Given the description of an element on the screen output the (x, y) to click on. 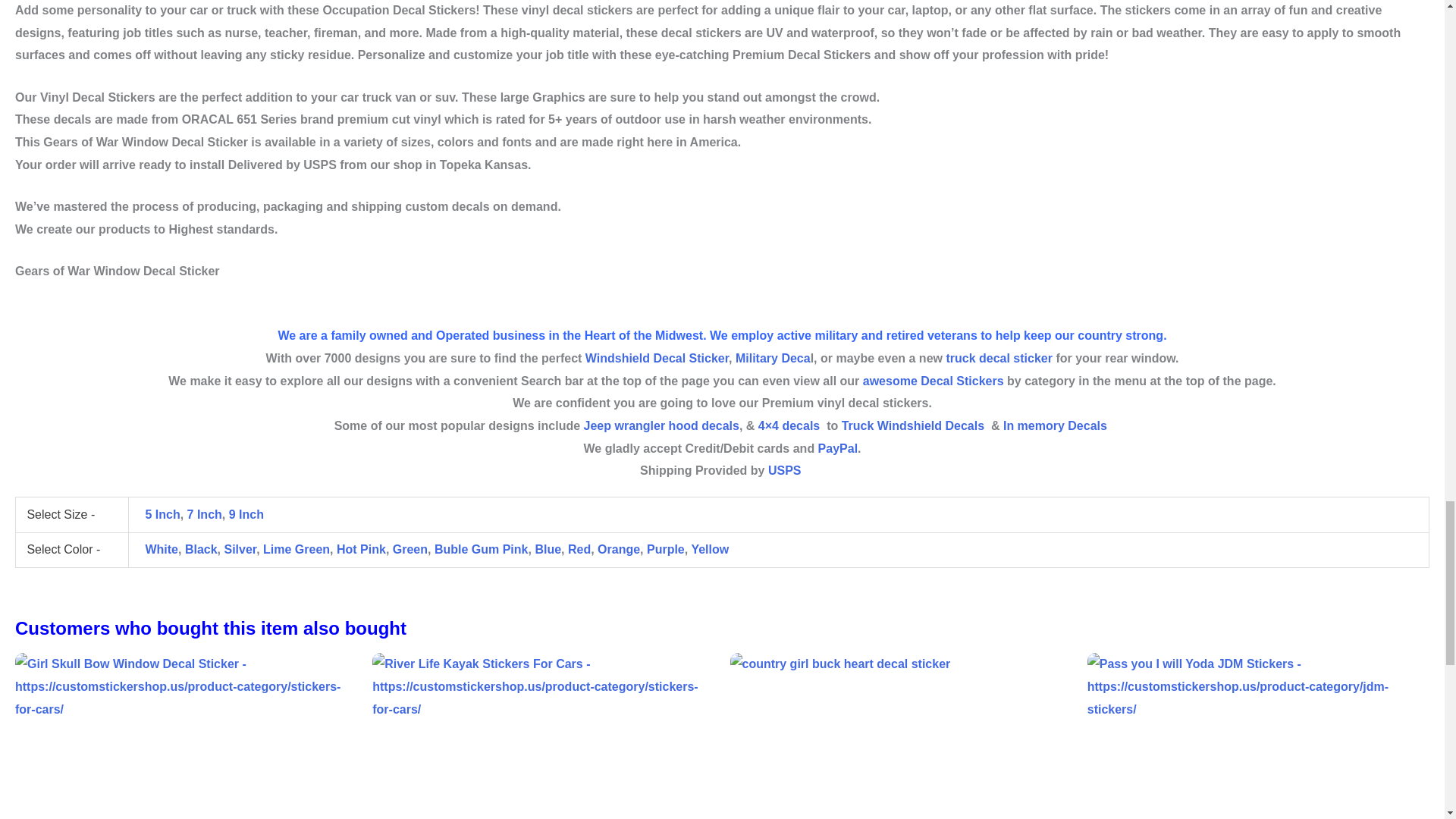
Jeep wrangler hood decals (661, 425)
Military Deca (772, 358)
In memory Decals  (1056, 425)
Windshield Decal Sticker (657, 358)
truck decal sticker (998, 358)
awesome Decal Stickers (933, 380)
Truck Windshield Decals (912, 425)
